Given the description of an element on the screen output the (x, y) to click on. 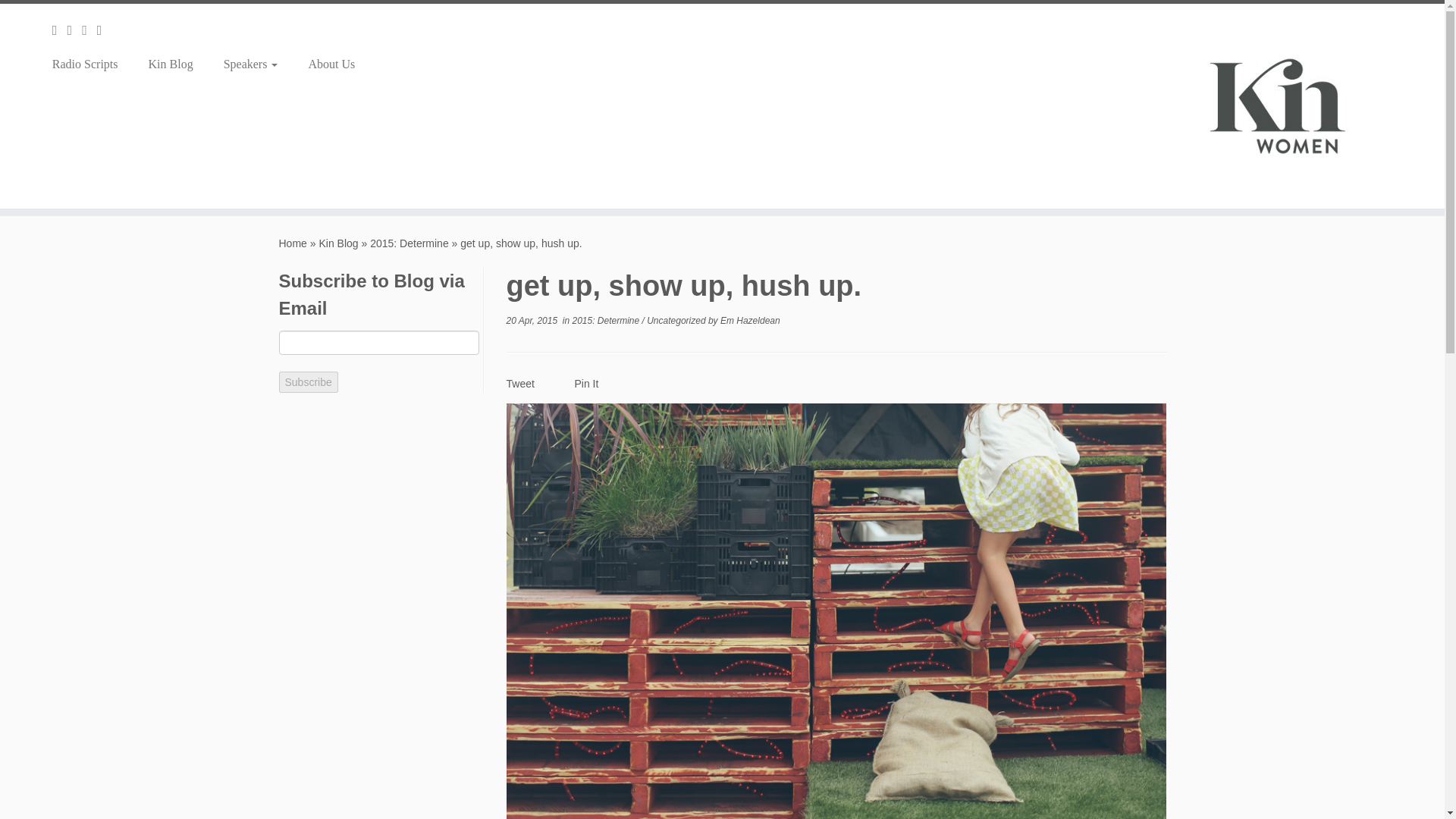
Subscribe (308, 382)
Radio Scripts (90, 64)
2015: Determine (607, 320)
View all posts in Uncategorized (676, 320)
Follow me on Facebook (89, 29)
Follow me on Instagram (104, 29)
Pin It (586, 383)
2:42 pm (531, 320)
Follow me on Twitter (73, 29)
View all posts in 2015: Determine (607, 320)
